Given the description of an element on the screen output the (x, y) to click on. 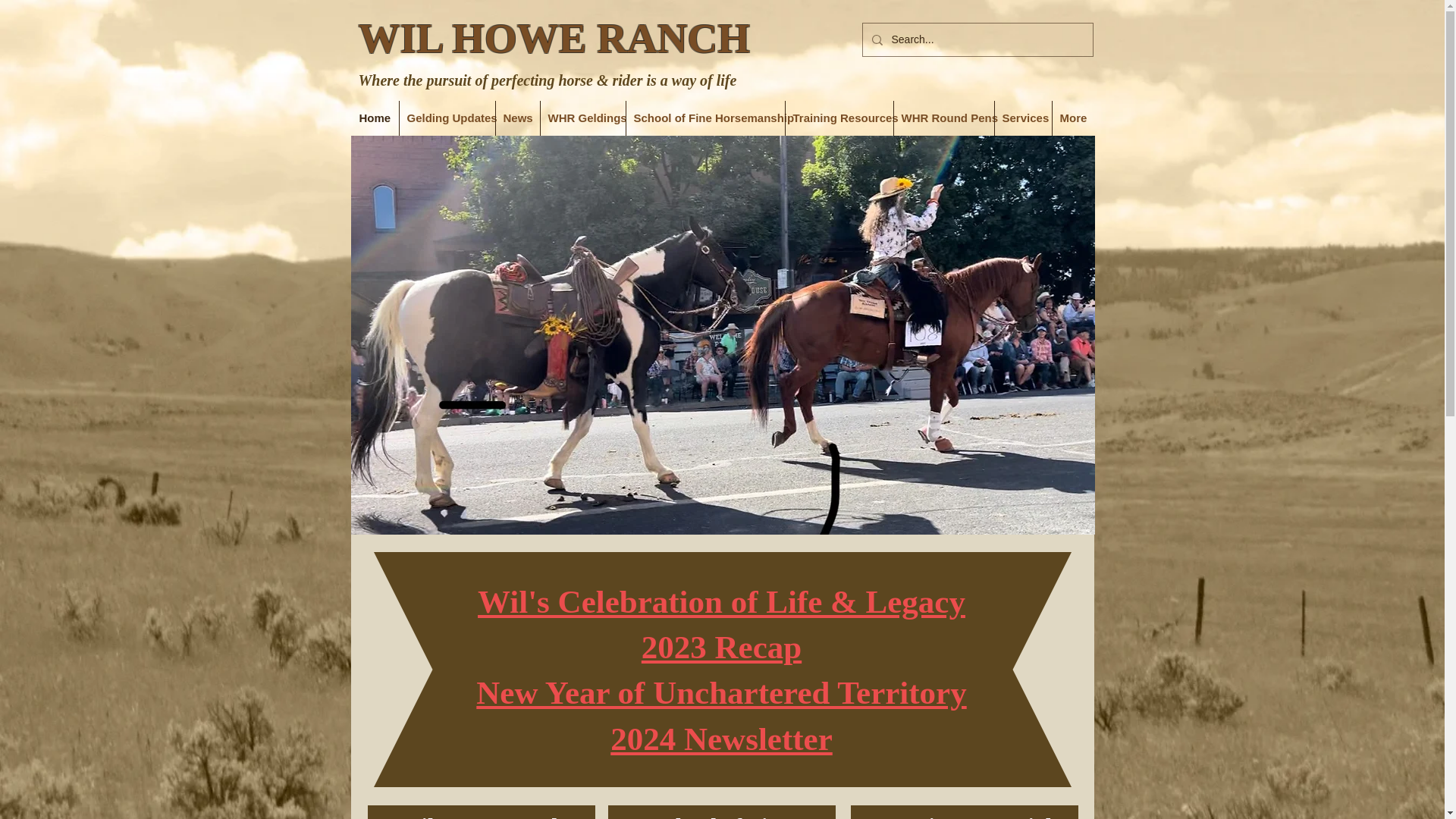
Training Resources (839, 117)
School of Fine Horsemanship (721, 816)
WHR Round Pens (942, 117)
Gelding Updates (446, 117)
News (518, 117)
Services (1022, 117)
WHR Geldings (582, 117)
School of Fine Horsemanship (705, 117)
Wil Howe Ranch Geldings (481, 816)
Home (375, 117)
